Given the description of an element on the screen output the (x, y) to click on. 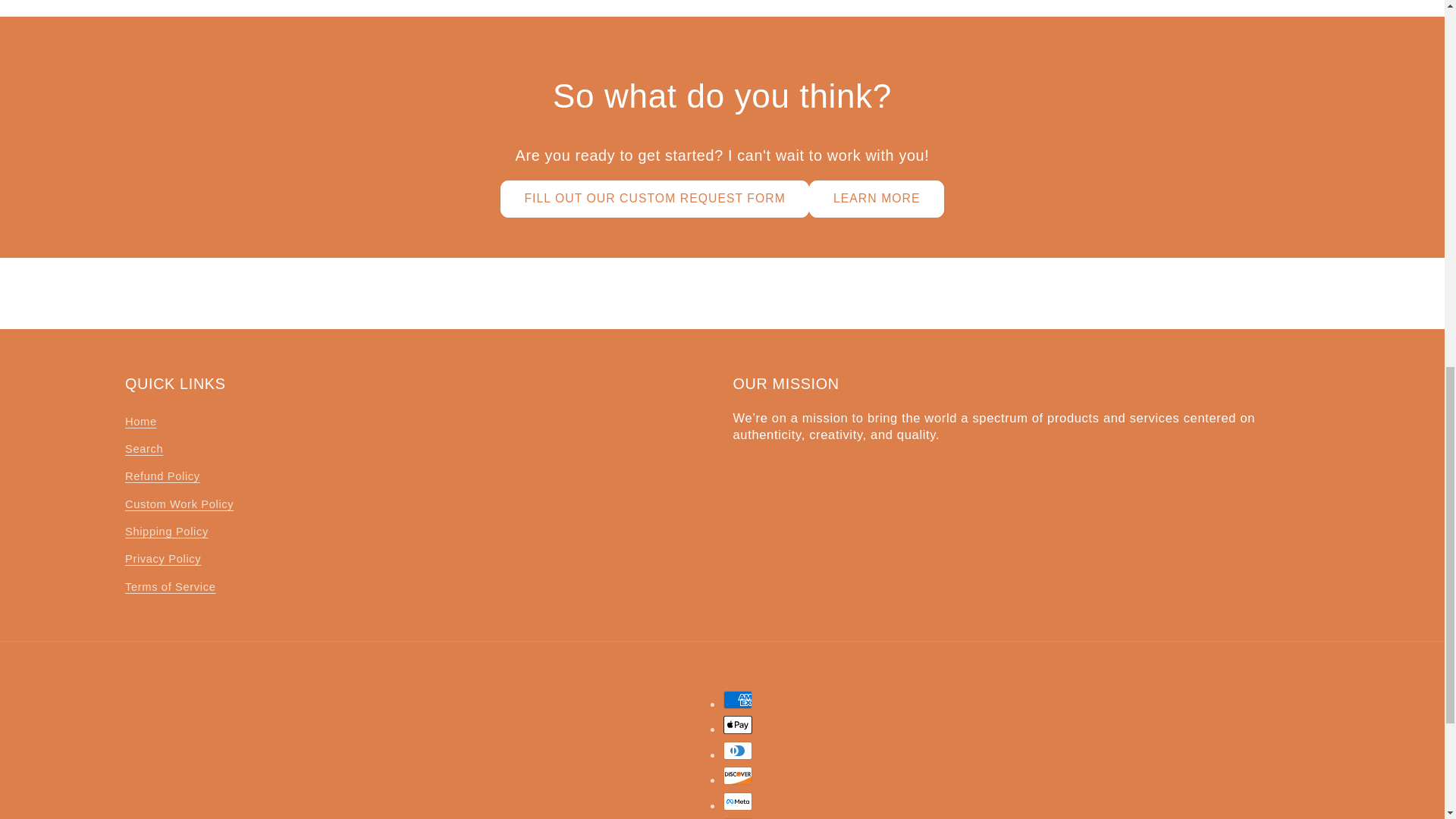
Meta Pay (737, 801)
Discover (737, 775)
Apple Pay (737, 724)
American Express (737, 700)
Google Pay (737, 818)
Diners Club (737, 751)
